Given the description of an element on the screen output the (x, y) to click on. 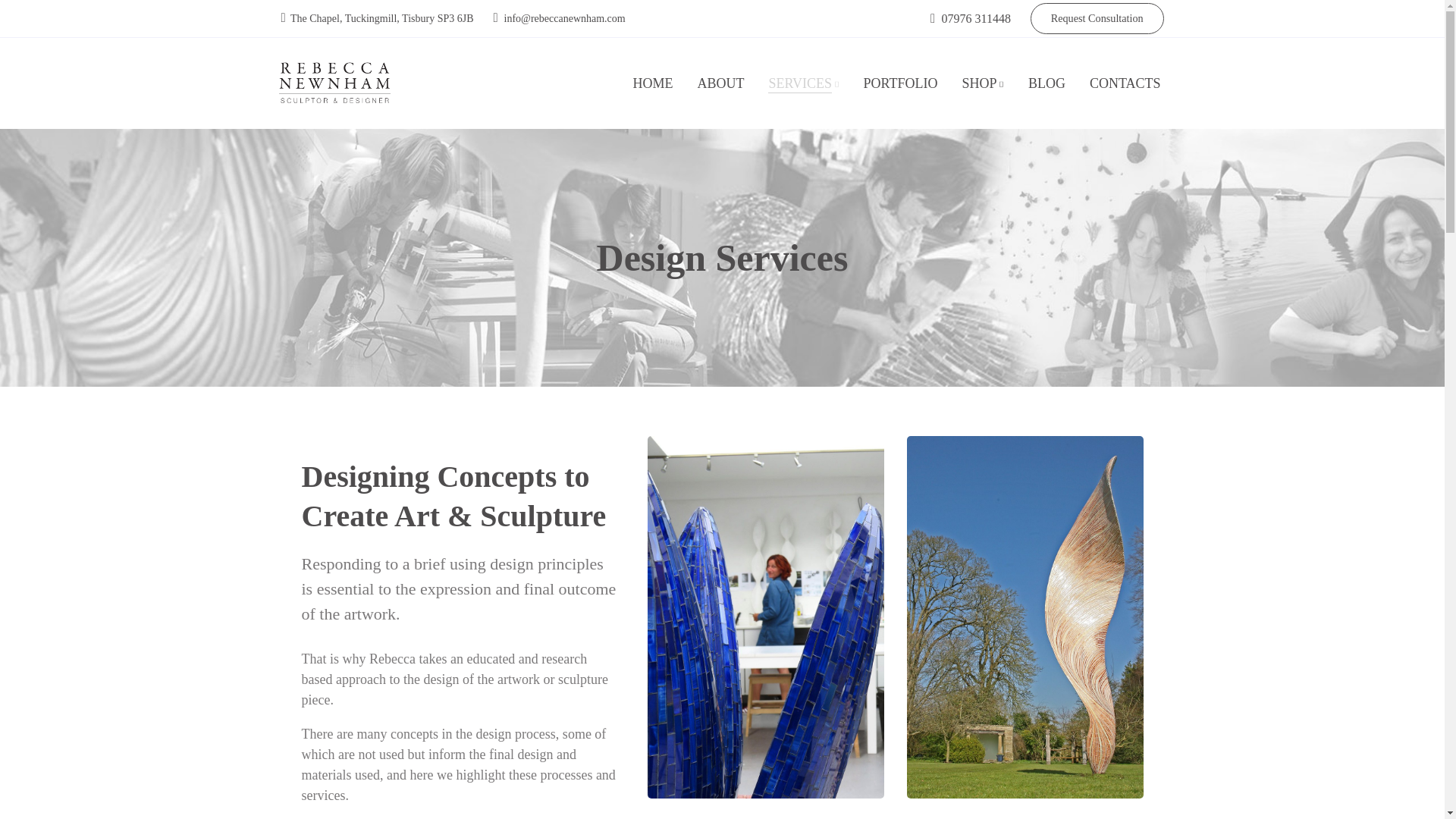
Request Consultation (1096, 18)
